Given the description of an element on the screen output the (x, y) to click on. 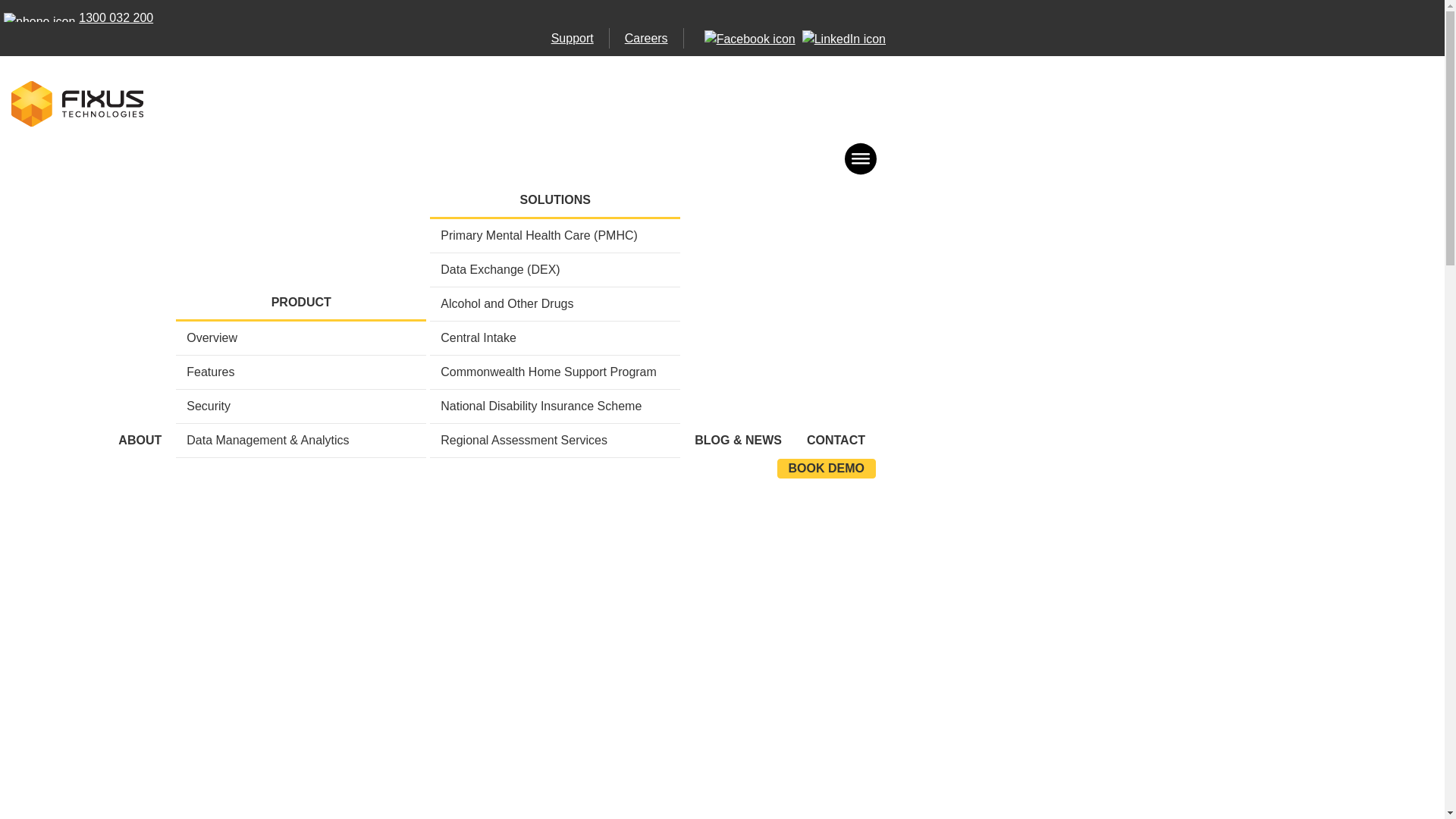
Regional Assessment Services Element type: text (554, 440)
Careers Element type: text (646, 37)
Security Element type: text (300, 406)
National Disability Insurance Scheme Element type: text (554, 406)
ABOUT Element type: text (139, 440)
CONTACT Element type: text (835, 440)
PRODUCT Element type: text (300, 302)
Data Management & Analytics Element type: text (300, 440)
Central Intake Element type: text (554, 338)
Features Element type: text (300, 372)
Commonwealth Home Support Program Element type: text (554, 372)
SOLUTIONS Element type: text (554, 200)
Overview Element type: text (300, 338)
Primary Mental Health Care (PMHC) Element type: text (554, 235)
Alcohol and Other Drugs Element type: text (554, 303)
Data Exchange (DEX) Element type: text (554, 269)
BOOK DEMO Element type: text (826, 468)
1300 032 200 Element type: text (76, 17)
BLOG & NEWS Element type: text (738, 440)
Support Element type: text (572, 37)
